Given the description of an element on the screen output the (x, y) to click on. 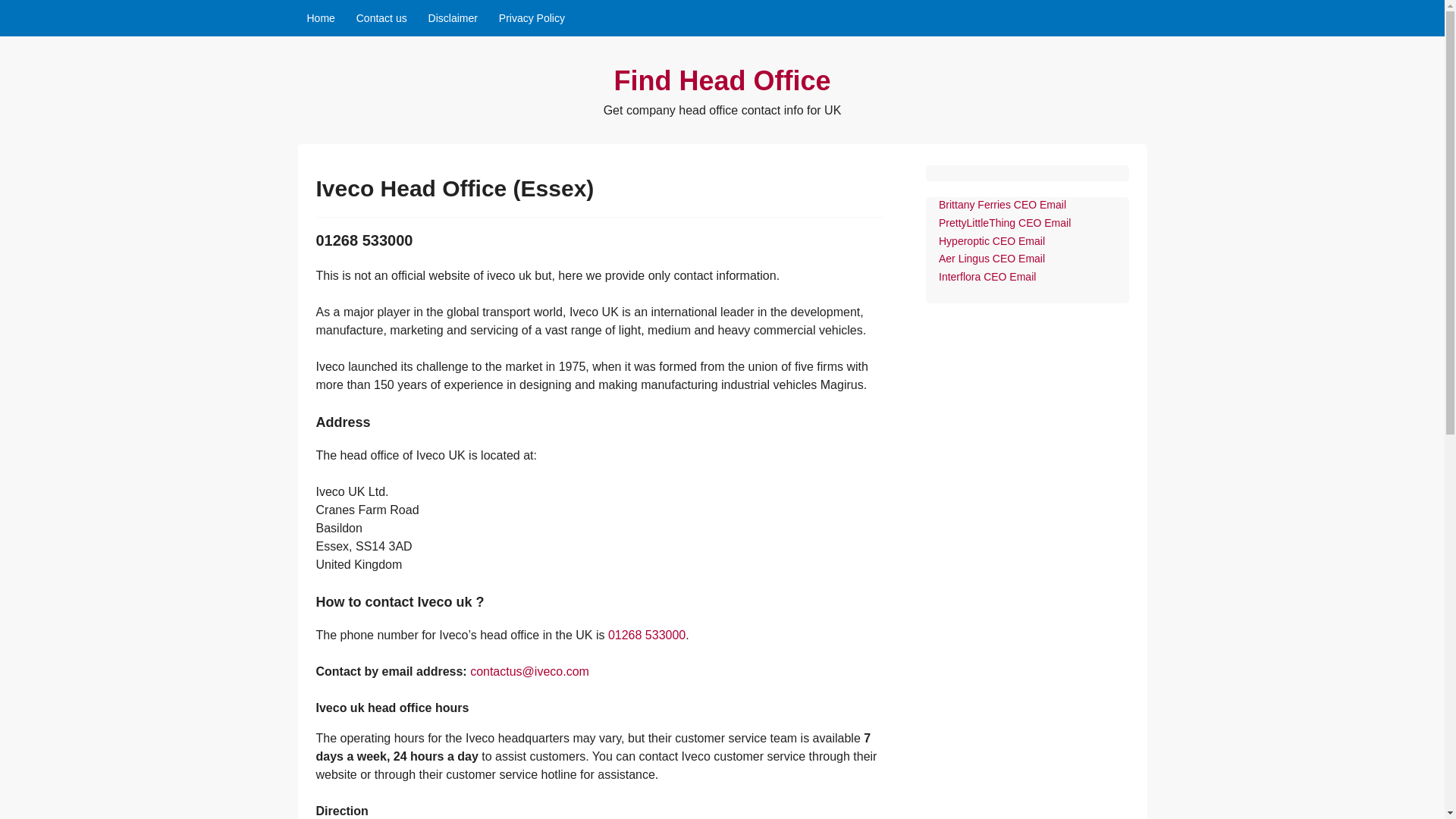
PrettyLittleThing CEO Email (1004, 223)
Aer Lingus CEO Email (992, 258)
Contact us (381, 18)
Home (320, 18)
Privacy Policy (531, 18)
01268 533000 (646, 634)
Find Head Office (720, 80)
Interflora CEO Email (987, 276)
Disclaimer (452, 18)
Brittany Ferries CEO Email (1002, 204)
